Given the description of an element on the screen output the (x, y) to click on. 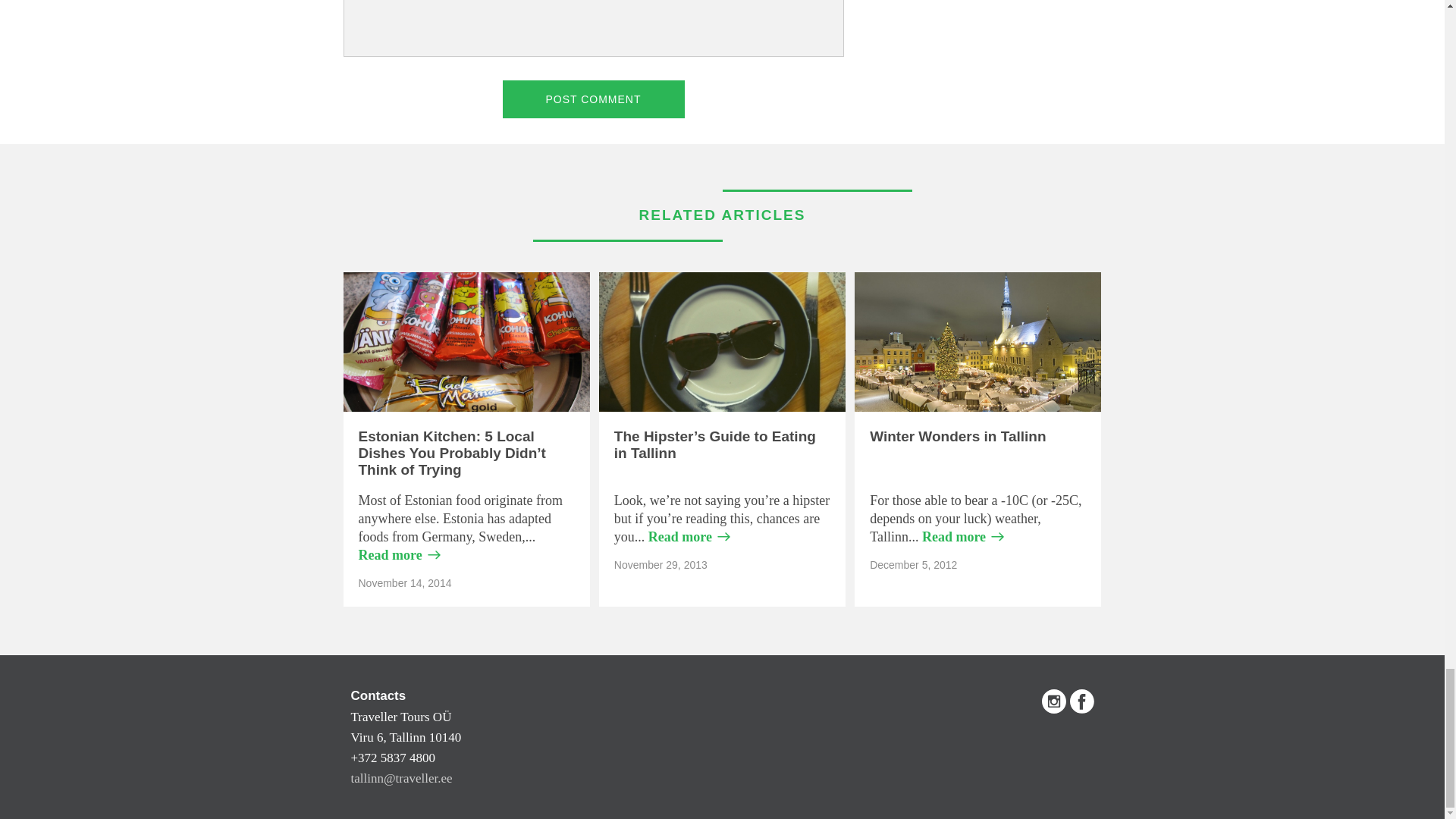
Post Comment (593, 98)
